Given the description of an element on the screen output the (x, y) to click on. 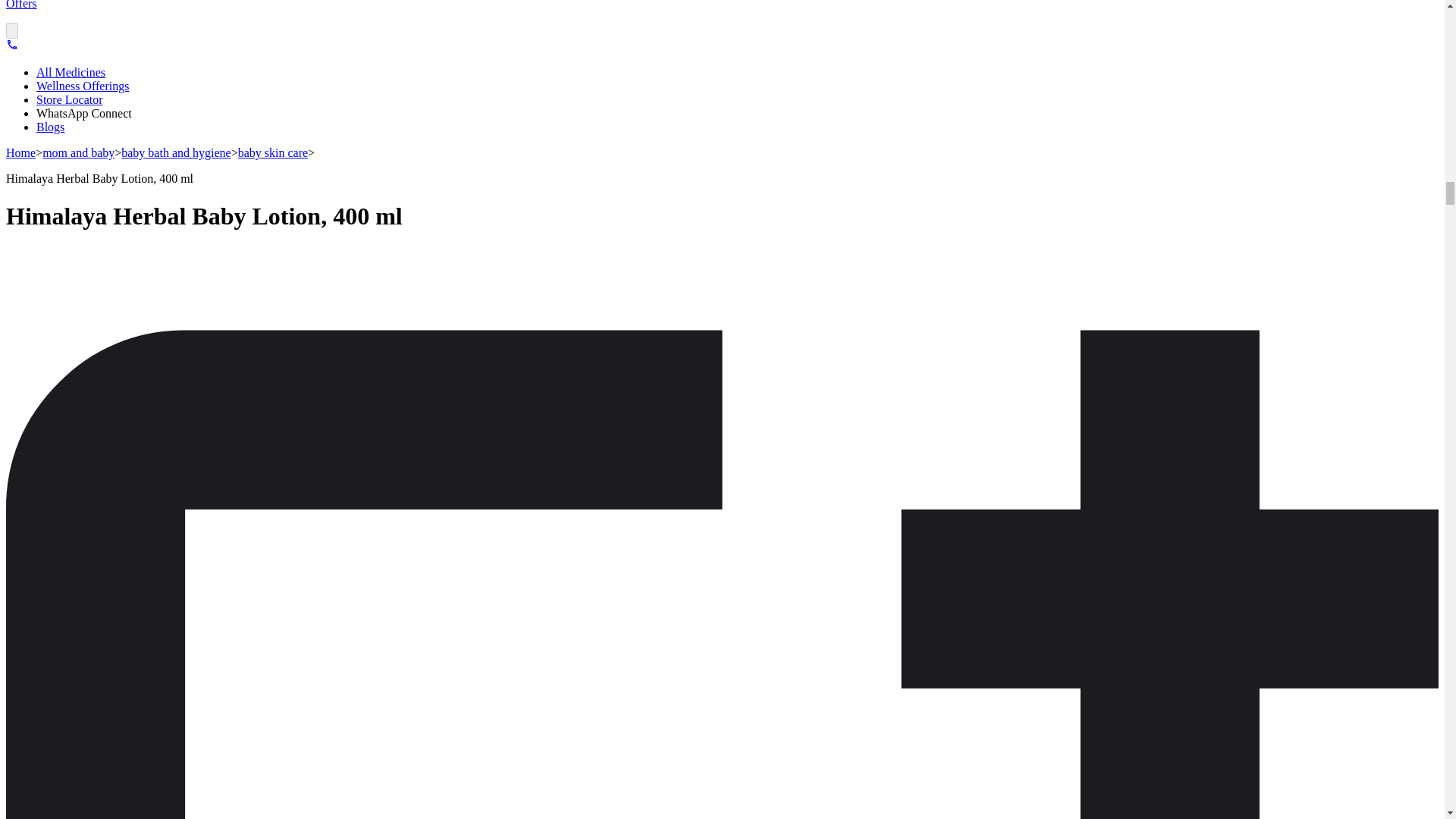
Home (19, 152)
mom and baby (78, 152)
baby bath and hygiene (175, 152)
baby skin care (272, 152)
